Given the description of an element on the screen output the (x, y) to click on. 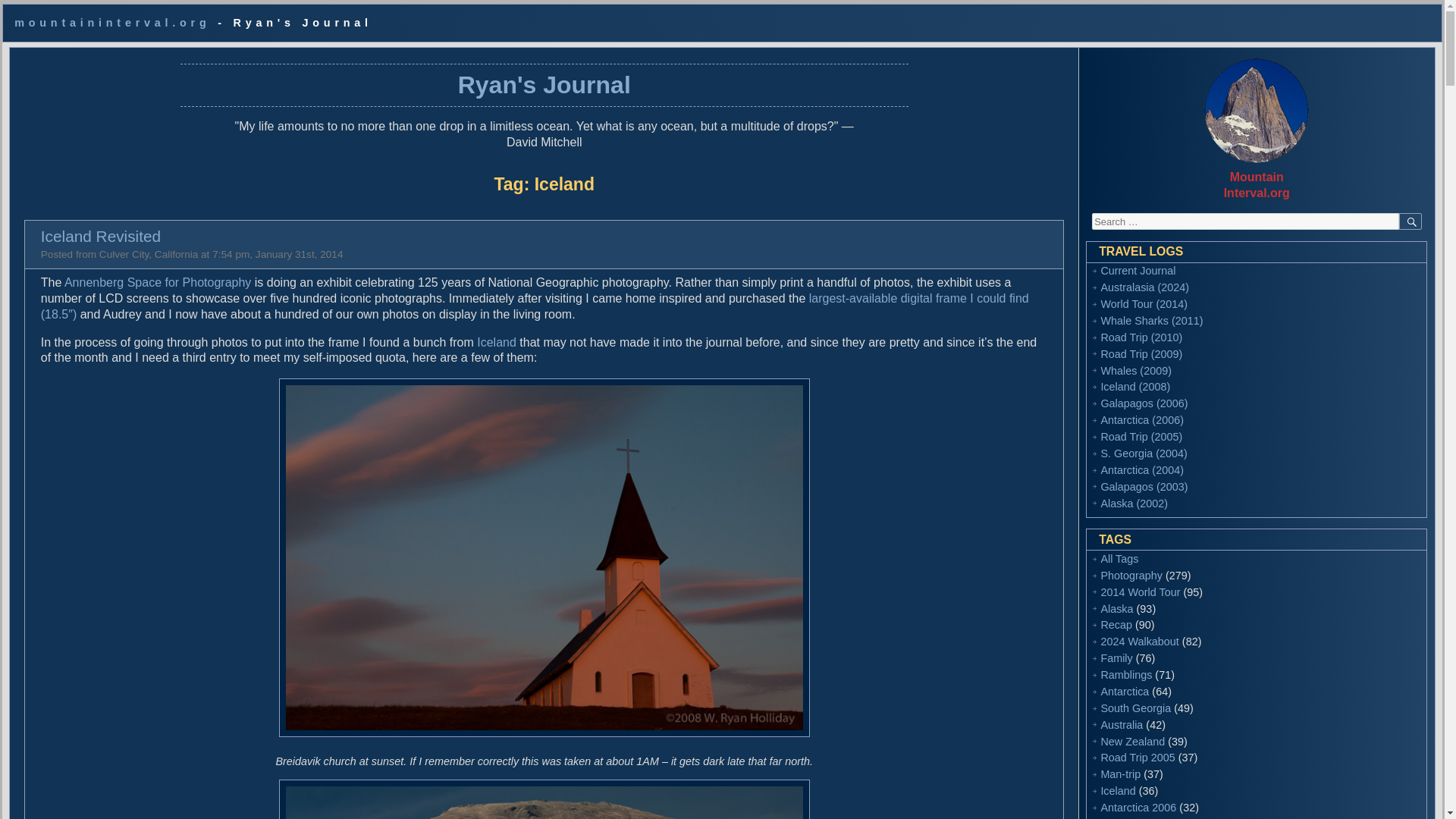
Family Tag (1116, 657)
Ryan's Journal (544, 84)
Alaska Tag (1116, 608)
Road Trip 2005 Tag (1137, 757)
Australia Tag (1121, 725)
Iceland Tag (1117, 790)
Antarctica Tag (1124, 691)
South Georgia Tag (1135, 707)
New Zealand Tag (1132, 741)
